Given the description of an element on the screen output the (x, y) to click on. 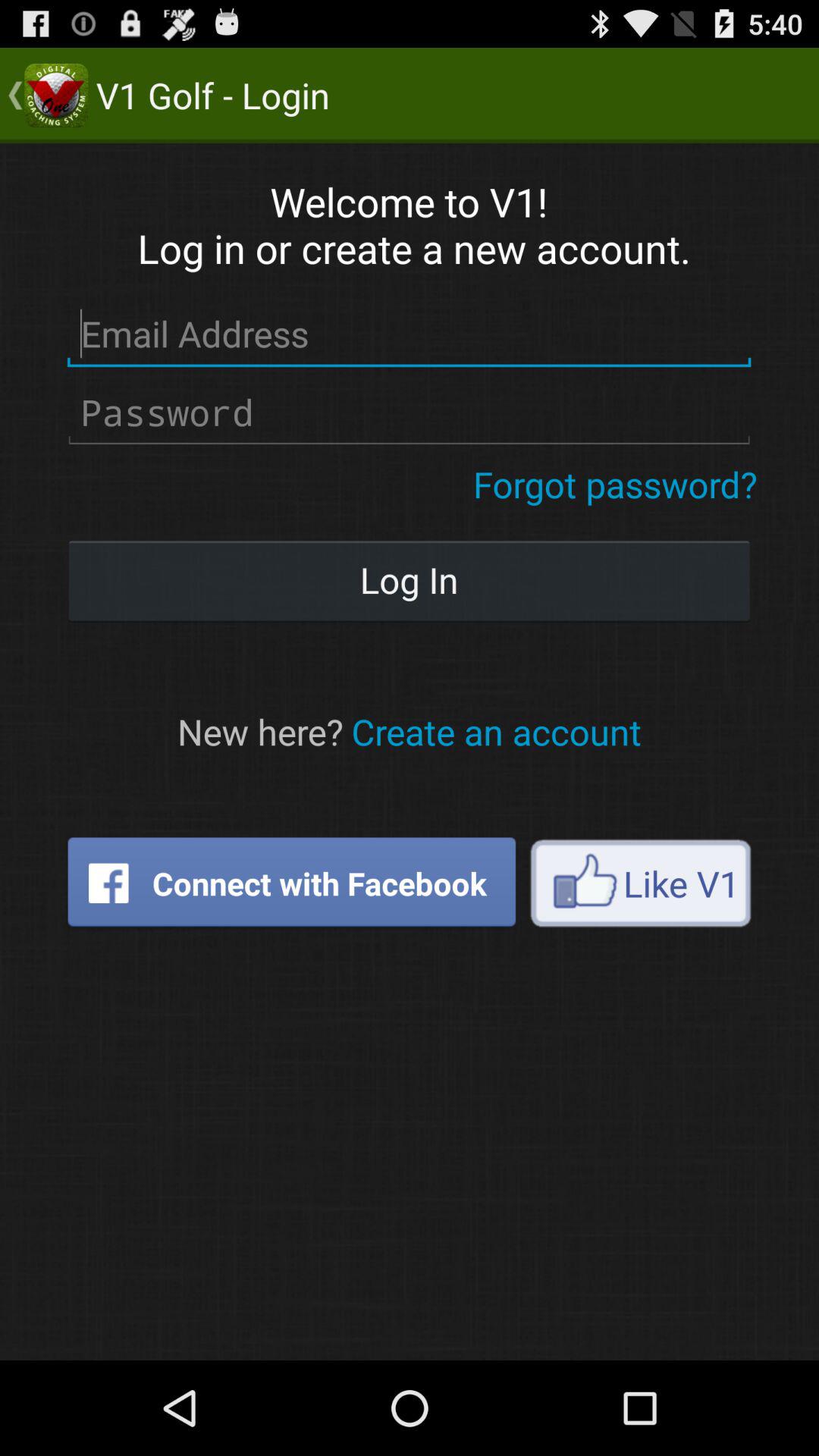
text field (408, 412)
